Given the description of an element on the screen output the (x, y) to click on. 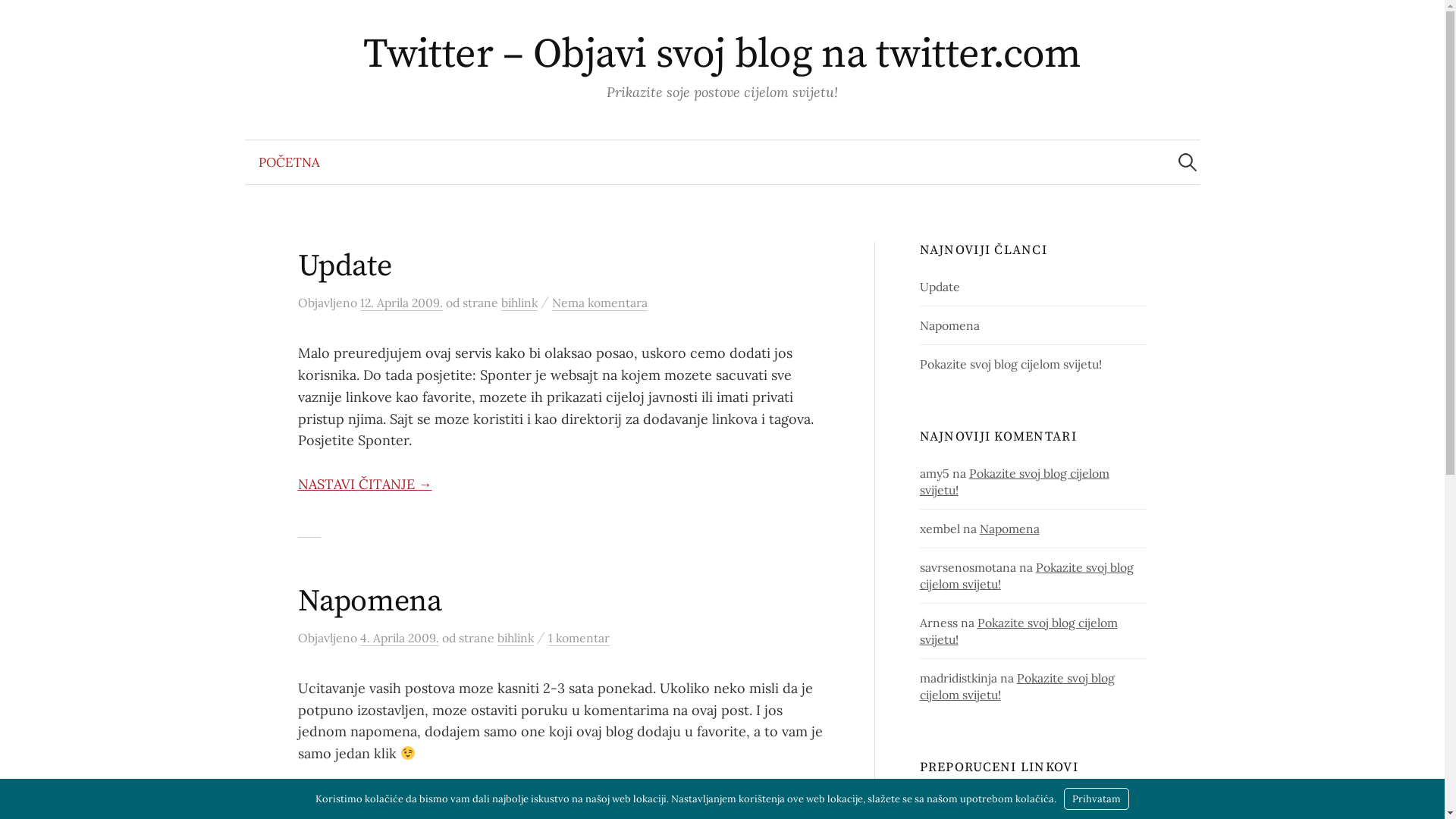
Pretraga Element type: text (18, 18)
Pokazite svoj blog cijelom svijetu! Element type: text (1014, 481)
Napomena Element type: text (369, 601)
Pokazite svoj blog cijelom svijetu! Element type: text (1010, 363)
4. Aprila 2009. Element type: text (398, 638)
12. Aprila 2009. Element type: text (400, 302)
Pokazite svoj blog cijelom svijetu! Element type: text (1026, 575)
Update Element type: text (939, 286)
bihlink Element type: text (515, 638)
Pokazite svoj blog cijelom svijetu! Element type: text (1018, 630)
Sponter.com Element type: text (954, 797)
Nema komentara
na Update Element type: text (599, 302)
Prihvatam Element type: text (1096, 798)
Update Element type: text (344, 266)
1 komentar
na Napomena Element type: text (577, 638)
Pokazite svoj blog cijelom svijetu! Element type: text (1016, 686)
bihlink Element type: text (518, 302)
Napomena Element type: text (949, 324)
Napomena Element type: text (1009, 528)
